Given the description of an element on the screen output the (x, y) to click on. 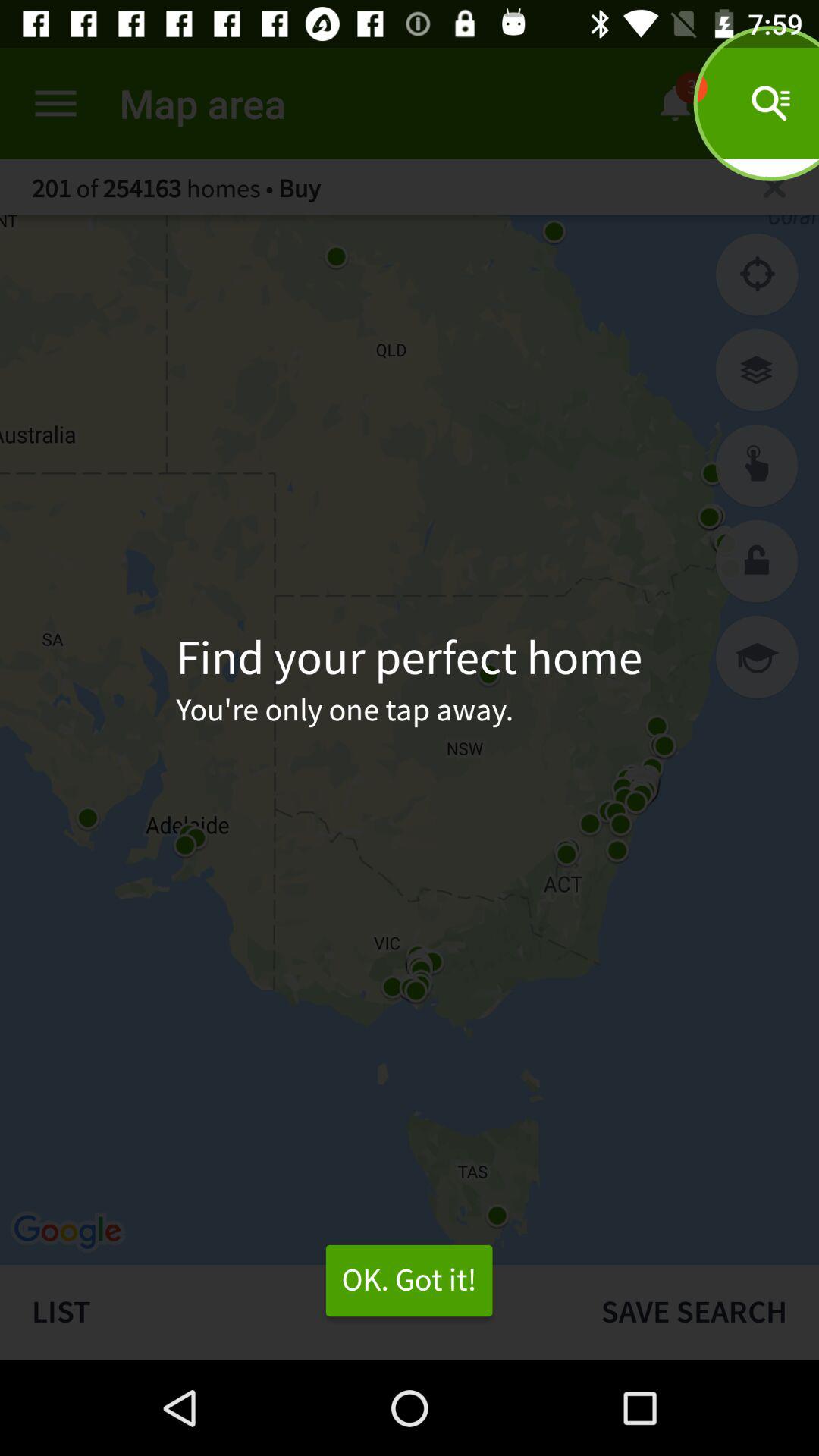
scroll until save search item (694, 1312)
